Given the description of an element on the screen output the (x, y) to click on. 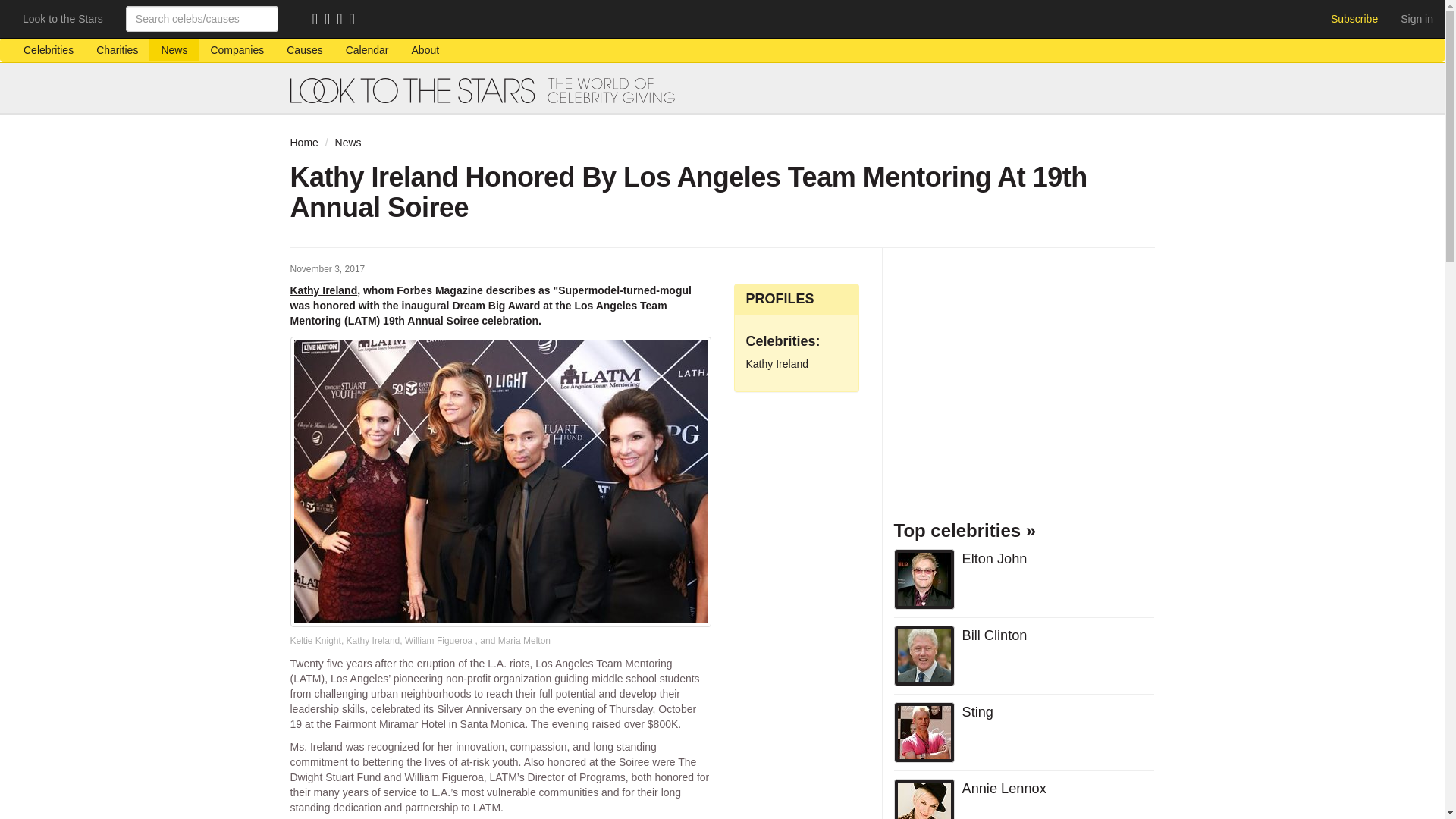
News (173, 49)
Kathy Ireland (777, 363)
Subscribe (1354, 18)
Look to the Stars (63, 18)
Celebrities (47, 49)
Look to the Stars - the world of celebrity giving (721, 90)
Home (303, 142)
About (425, 49)
Companies (236, 49)
Charities (116, 49)
Calendar (367, 49)
Twitter (342, 20)
Causes (304, 49)
Kathy Ireland (322, 290)
Mailing list (330, 20)
